Given the description of an element on the screen output the (x, y) to click on. 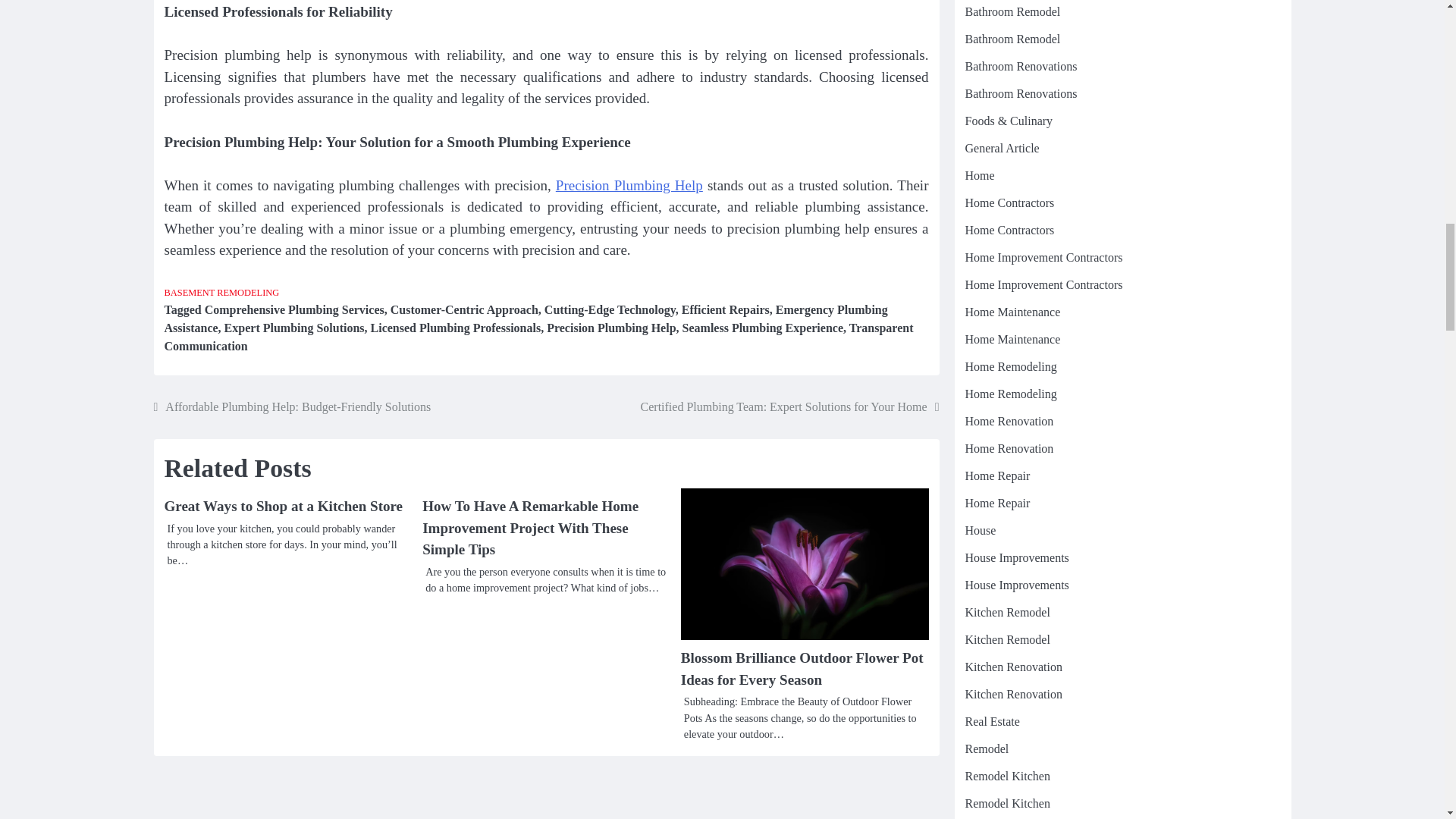
BASEMENT REMODELING (221, 292)
Comprehensive Plumbing Services (294, 309)
Precision Plumbing Help (629, 185)
Customer-Centric Approach (464, 309)
